Given the description of an element on the screen output the (x, y) to click on. 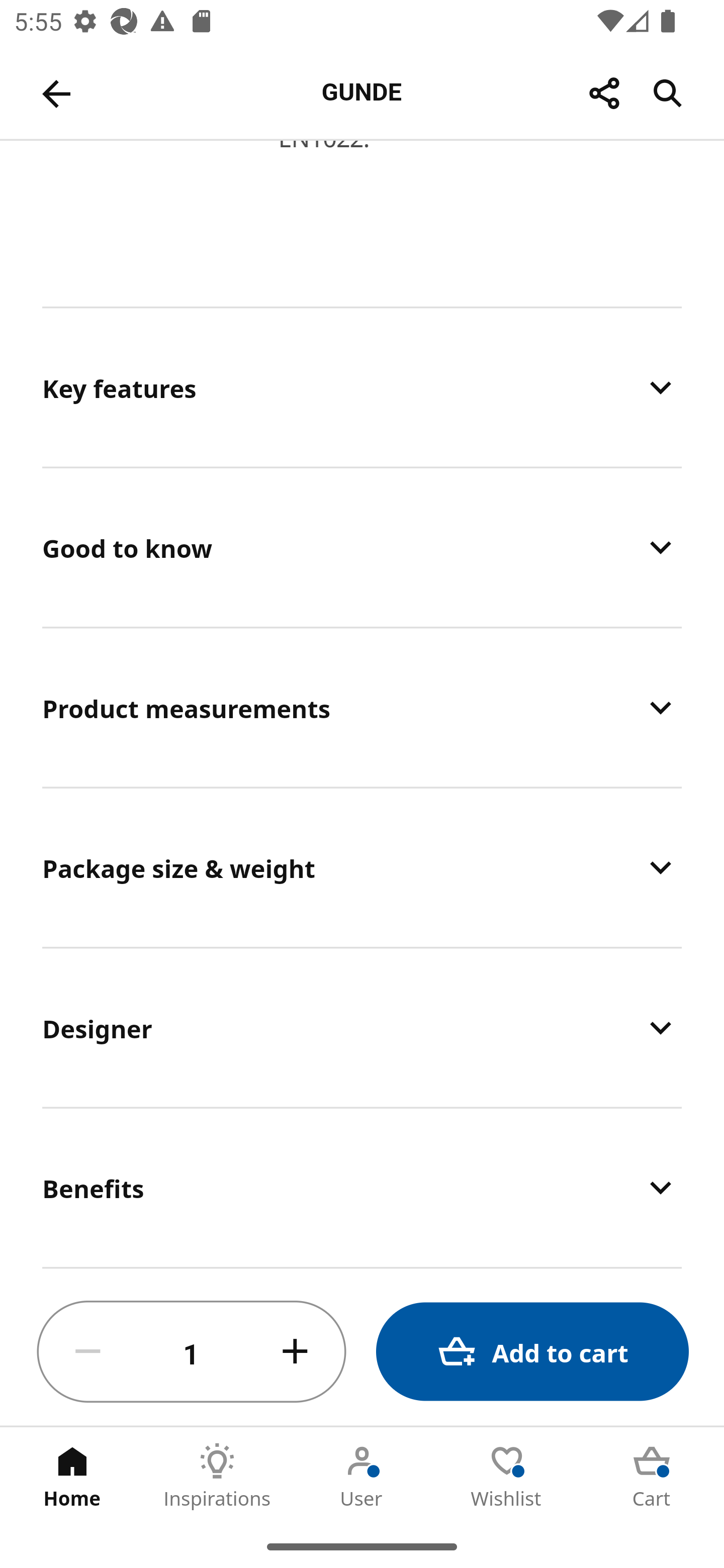
Key features (361, 387)
Good to know (361, 547)
Product measurements (361, 707)
Package size & weight (361, 867)
Designer (361, 1027)
Benefits (361, 1187)
Add to cart (531, 1352)
1 (191, 1352)
Home
Tab 1 of 5 (72, 1476)
Inspirations
Tab 2 of 5 (216, 1476)
User
Tab 3 of 5 (361, 1476)
Wishlist
Tab 4 of 5 (506, 1476)
Cart
Tab 5 of 5 (651, 1476)
